Given the description of an element on the screen output the (x, y) to click on. 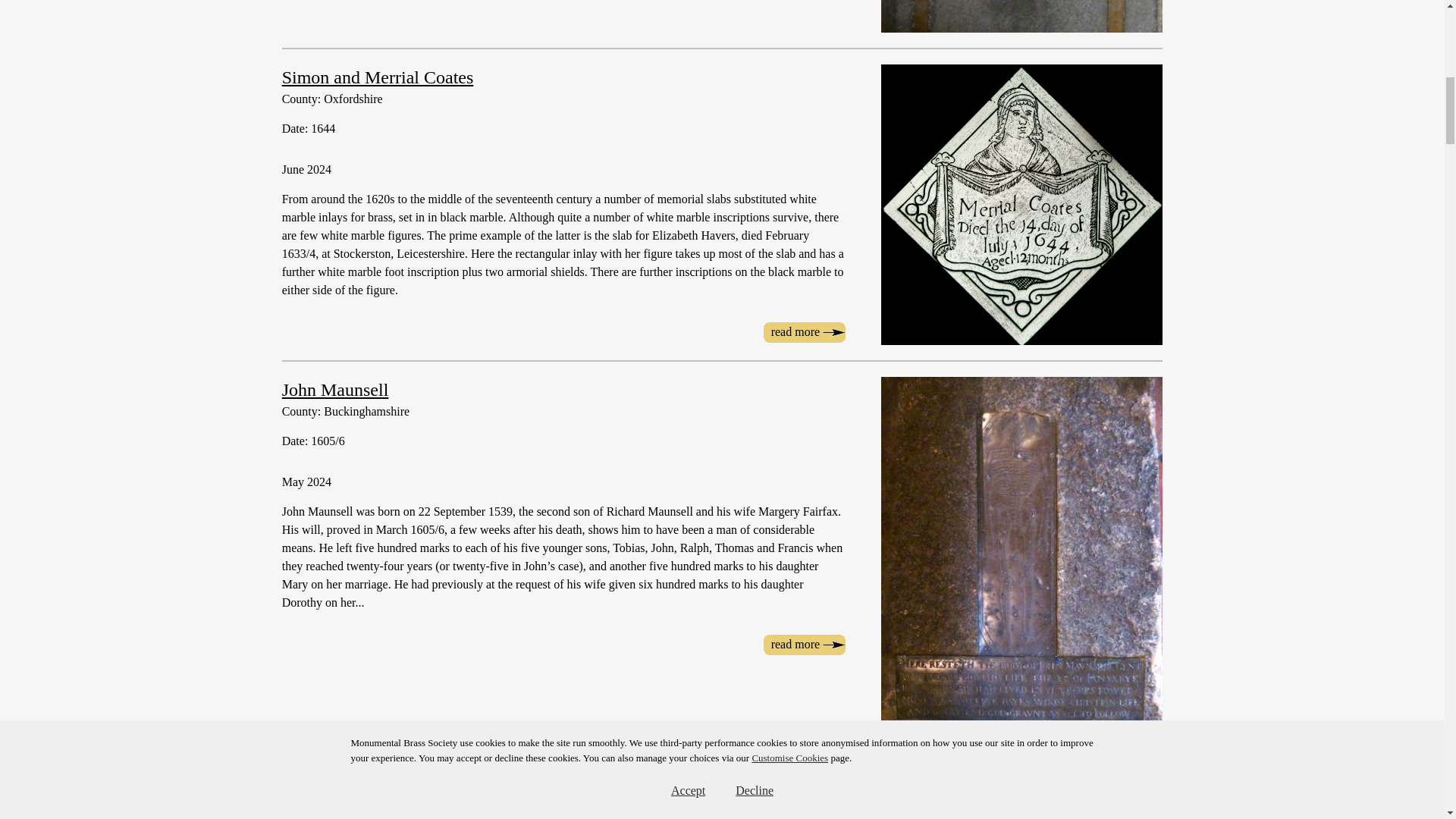
John Maunsell (335, 389)
Simon and Merrial Coates (803, 332)
John Maunsell (803, 644)
Richard de la Pole (349, 797)
Richard de la Pole (349, 797)
read more (803, 644)
Simon and Merrial Coates (378, 76)
read more (803, 332)
Simon and Merrial Coates (378, 76)
John Maunsell (335, 389)
